Given the description of an element on the screen output the (x, y) to click on. 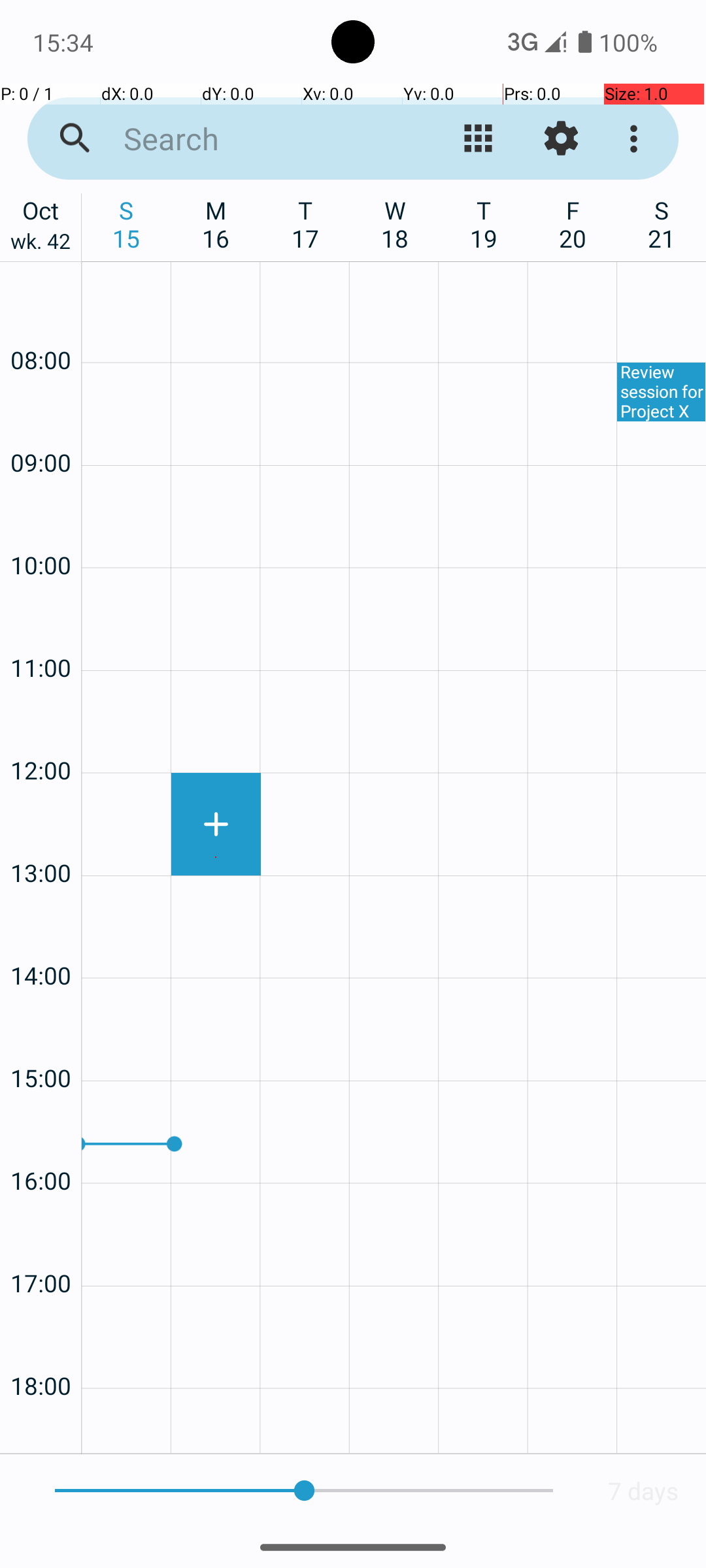
wk. 42 Element type: android.widget.TextView (40, 243)
7 days Element type: android.widget.TextView (642, 1490)
08:00 Element type: android.widget.TextView (40, 324)
09:00 Element type: android.widget.TextView (40, 427)
10:00 Element type: android.widget.TextView (40, 529)
11:00 Element type: android.widget.TextView (40, 632)
12:00 Element type: android.widget.TextView (40, 735)
13:00 Element type: android.widget.TextView (40, 837)
14:00 Element type: android.widget.TextView (40, 940)
15:00 Element type: android.widget.TextView (40, 1042)
17:00 Element type: android.widget.TextView (40, 1247)
18:00 Element type: android.widget.TextView (40, 1350)
19:00 Element type: android.widget.TextView (40, 1428)
S
15 Element type: android.widget.TextView (126, 223)
M
16 Element type: android.widget.TextView (215, 223)
T
17 Element type: android.widget.TextView (305, 223)
W
18 Element type: android.widget.TextView (394, 223)
T
19 Element type: android.widget.TextView (483, 223)
F
20 Element type: android.widget.TextView (572, 223)
S
21 Element type: android.widget.TextView (661, 223)
Review session for Project X Element type: android.widget.TextView (661, 391)
